Given the description of an element on the screen output the (x, y) to click on. 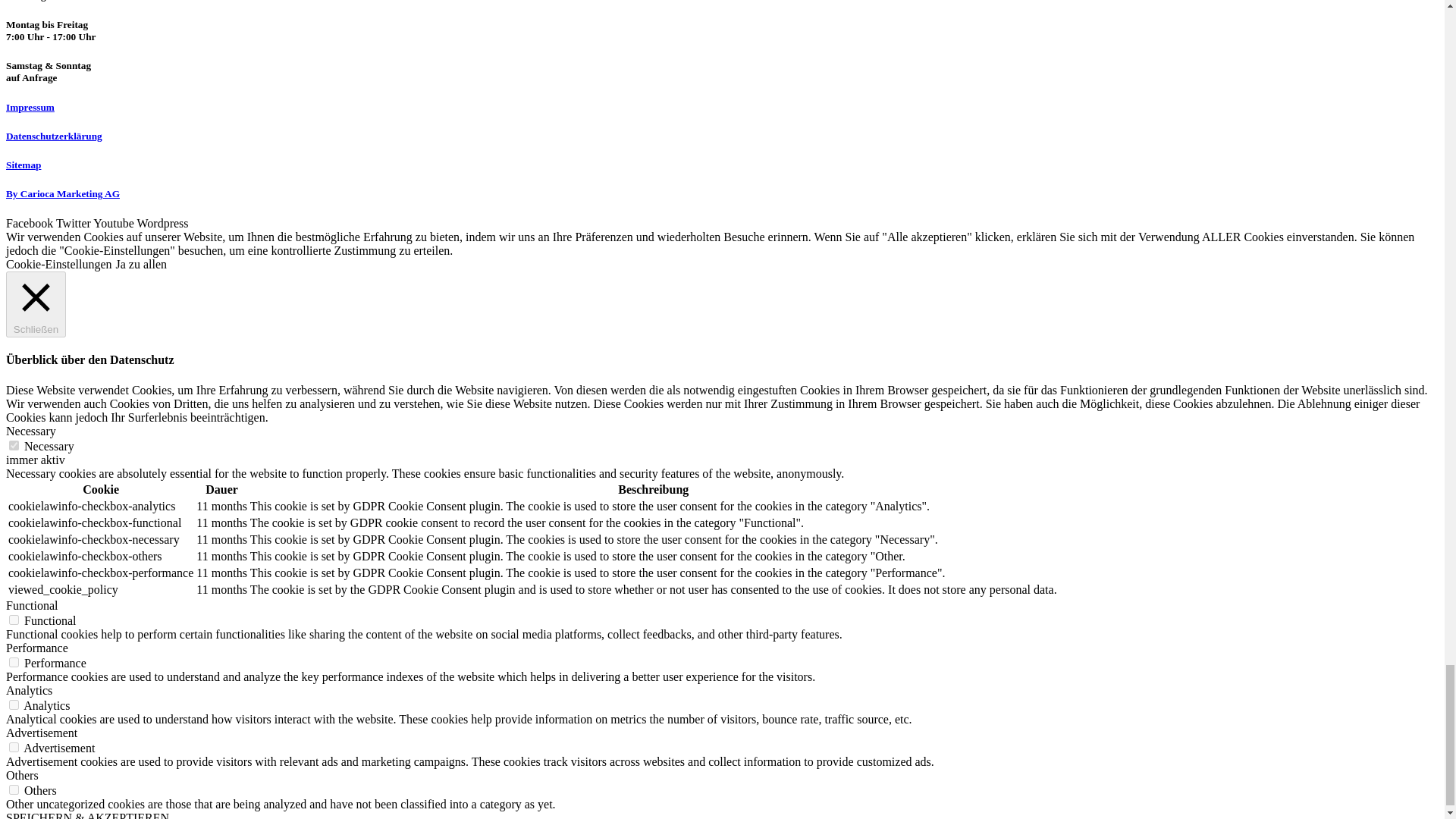
on (13, 445)
on (13, 747)
on (13, 789)
on (13, 619)
on (13, 662)
on (13, 705)
